Given the description of an element on the screen output the (x, y) to click on. 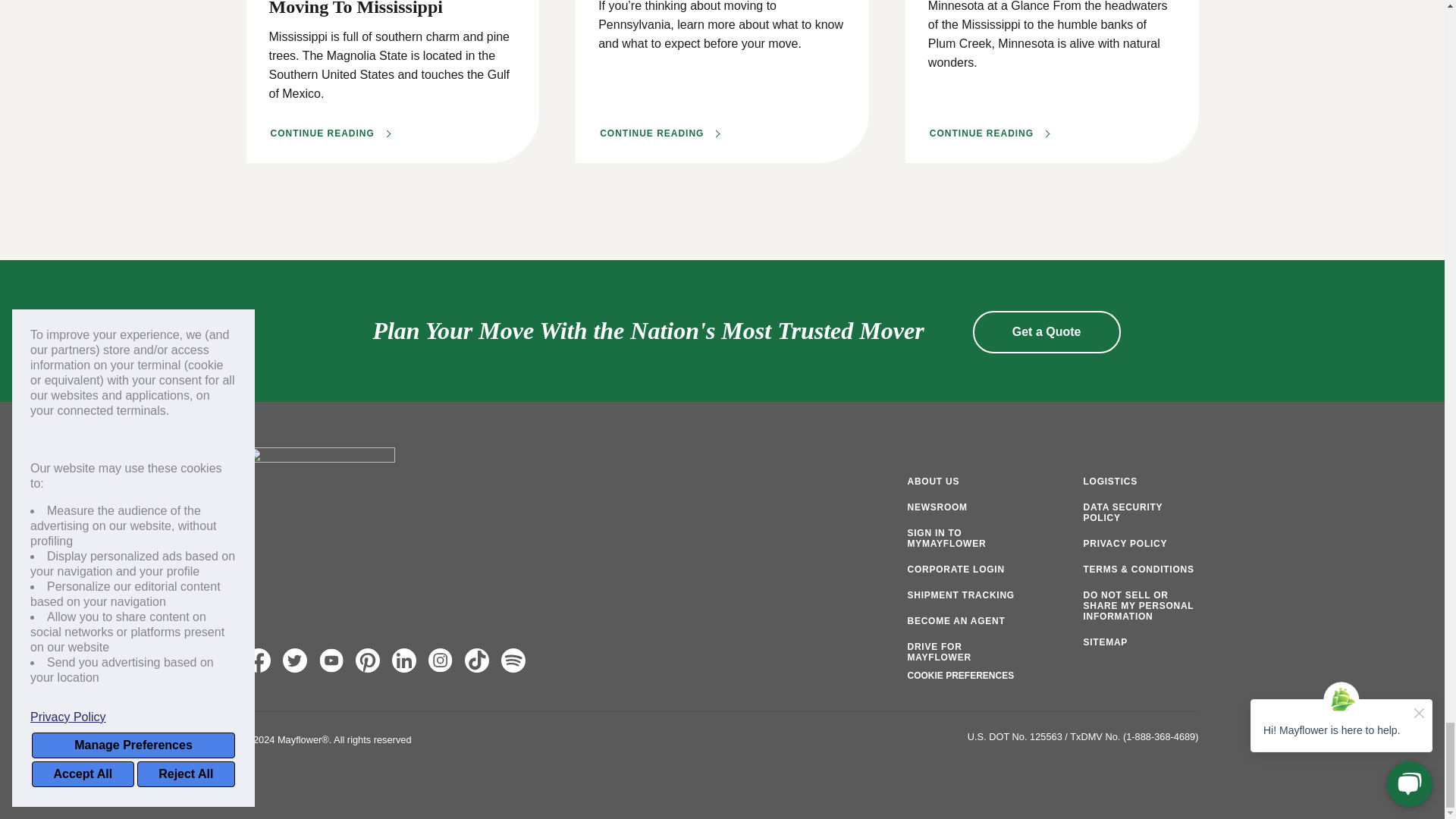
4 Things to Know When Moving to Pennsylvania (659, 133)
7 Things You Want to Know Before Moving to Minnesota (988, 133)
